Given the description of an element on the screen output the (x, y) to click on. 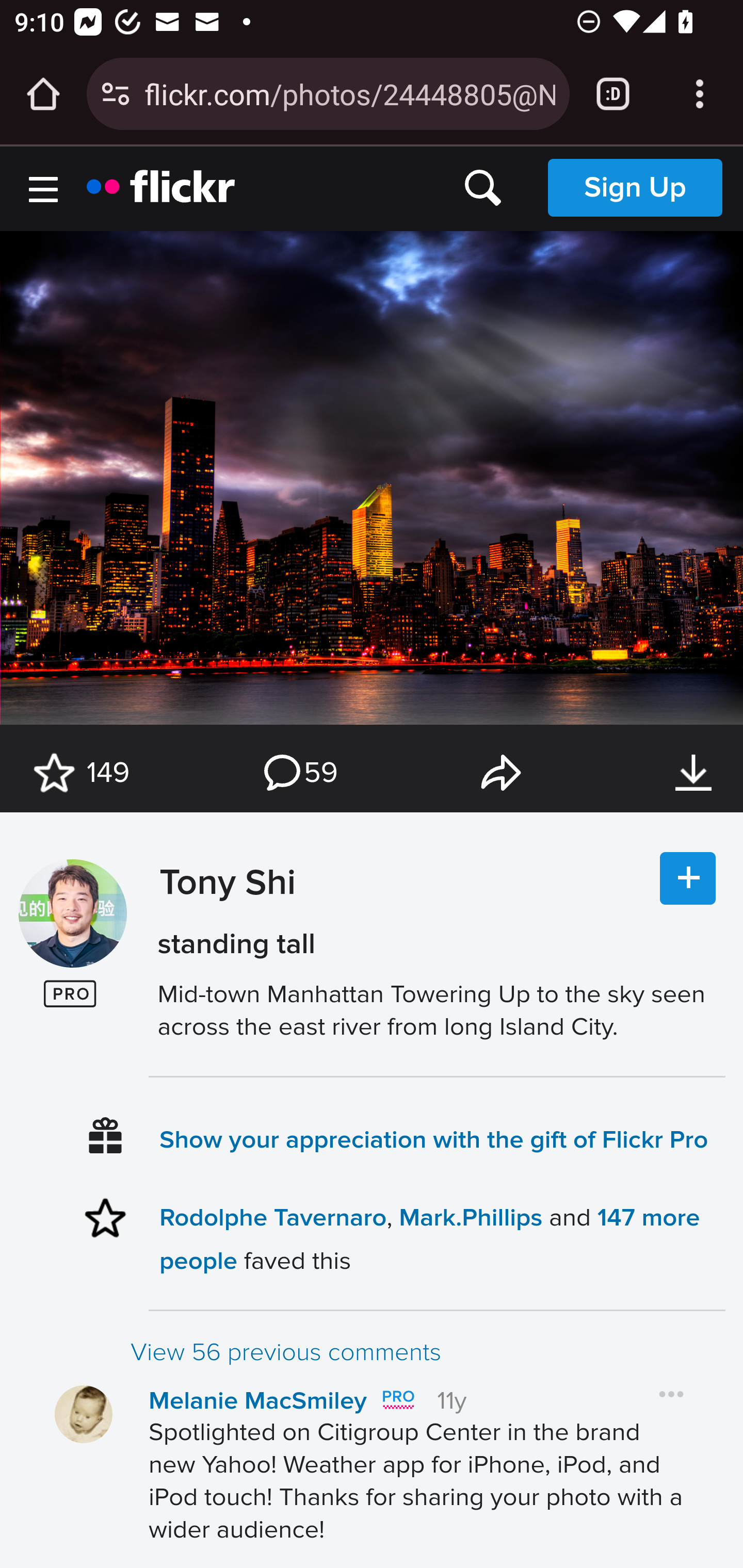
Open the home page (43, 93)
Connection is secure (115, 93)
Switch or close tabs (612, 93)
Customize and control Google Chrome (699, 93)
flickr.com/photos/24448805@N07/2909441524 (349, 92)
Sign Up Sign Up Sign Up (634, 187)
59 (299, 772)
Download this photo (692, 772)
Follow (687, 878)
tonyshi (72, 914)
Show your appreciation with the gift of Flickr Pro (434, 1138)
147 more people (429, 1238)
View 56 previous comments (427, 1352)
macsmiley (83, 1414)
Melanie MacSmiley (257, 1400)
Flickr ♥ our Old School Pros (397, 1399)
